Given the description of an element on the screen output the (x, y) to click on. 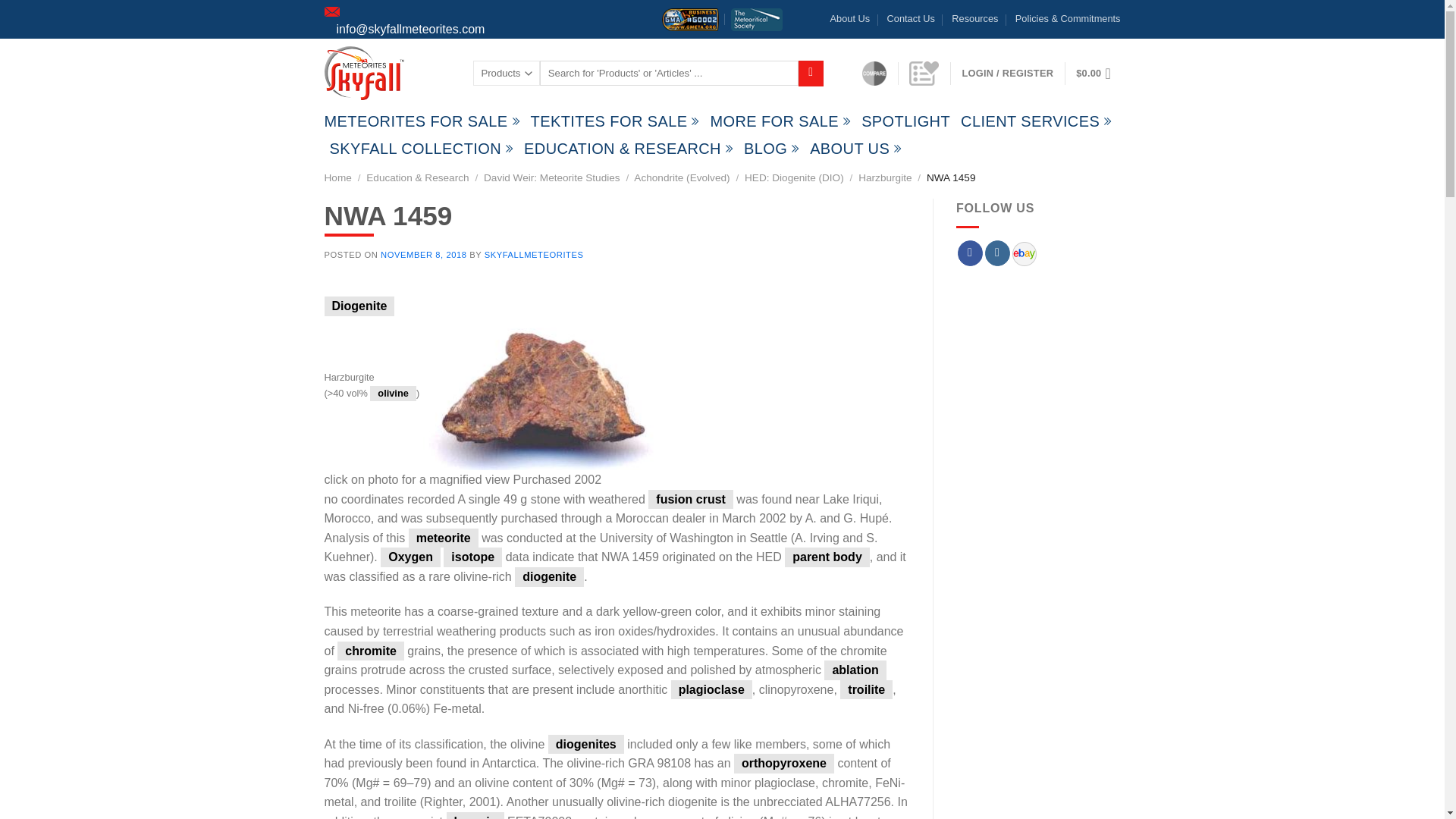
METEORITES FOR SALE (421, 121)
Cart (1097, 73)
Resources (974, 18)
Contact Us (910, 18)
Follow on Instagram (997, 253)
Search (810, 73)
Follow on Ebay (1023, 252)
About Us (849, 18)
Follow on Facebook (970, 253)
